Given the description of an element on the screen output the (x, y) to click on. 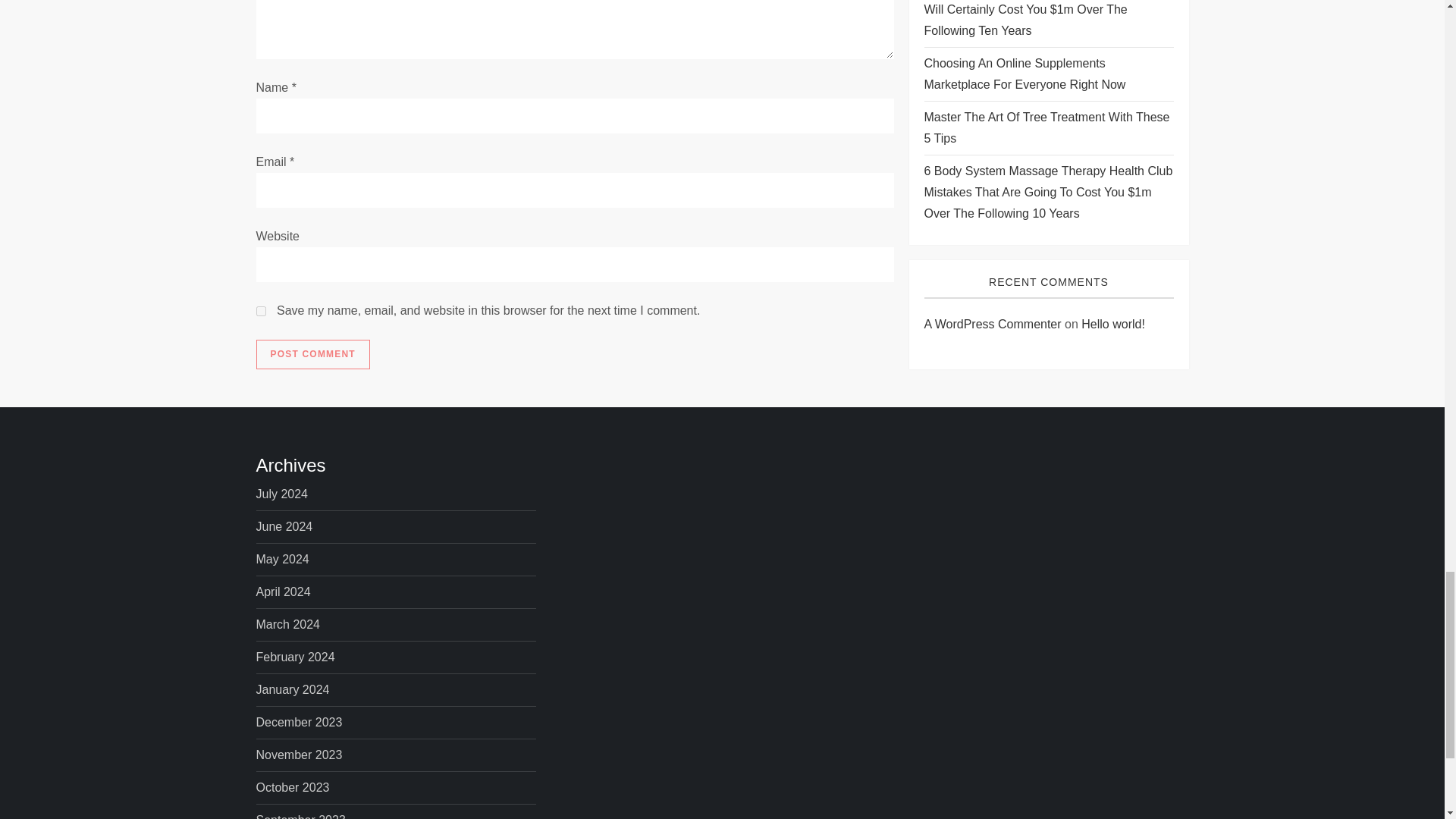
March 2024 (288, 624)
May 2024 (282, 559)
February 2024 (295, 657)
November 2023 (299, 754)
Post Comment (312, 354)
December 2023 (299, 722)
April 2024 (283, 591)
October 2023 (293, 787)
July 2024 (282, 494)
Post Comment (312, 354)
yes (261, 311)
January 2024 (293, 690)
June 2024 (284, 526)
September 2023 (301, 814)
